Given the description of an element on the screen output the (x, y) to click on. 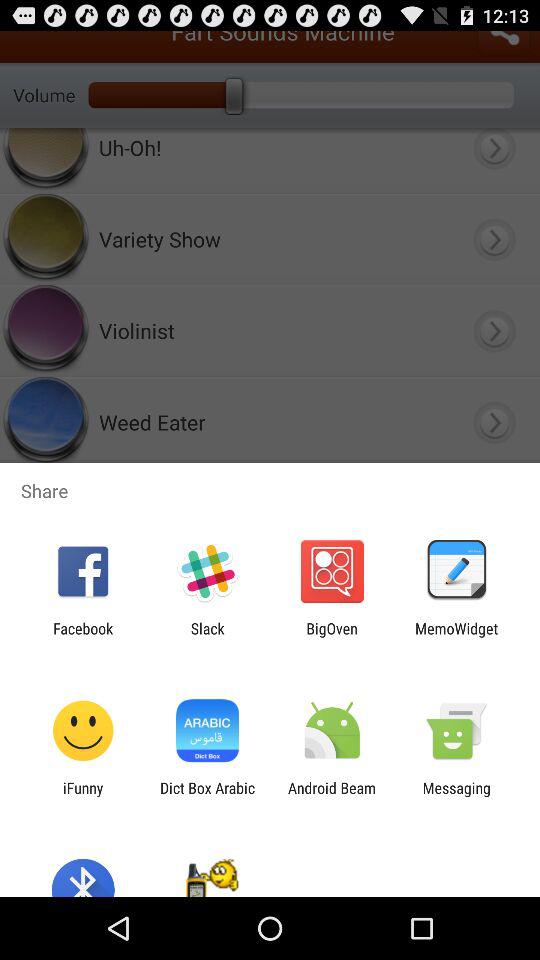
open the app next to facebook (207, 637)
